Given the description of an element on the screen output the (x, y) to click on. 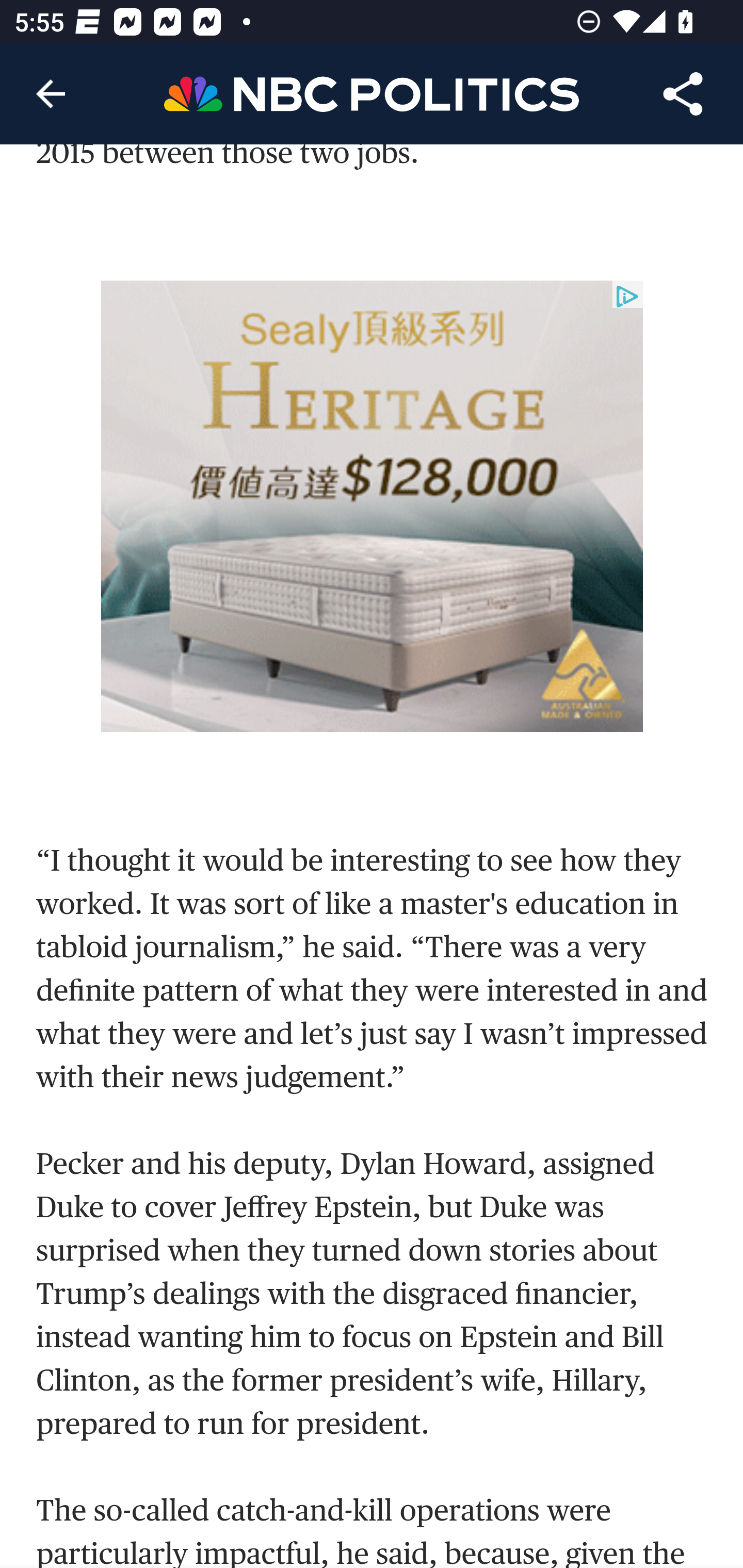
Navigate up (50, 93)
Share Article, button (683, 94)
Header, NBC Politics (371, 93)
icgBeteWSZFMbKXZTb0bmADIM%23300x500 (372, 507)
adchoices (626, 298)
